Given the description of an element on the screen output the (x, y) to click on. 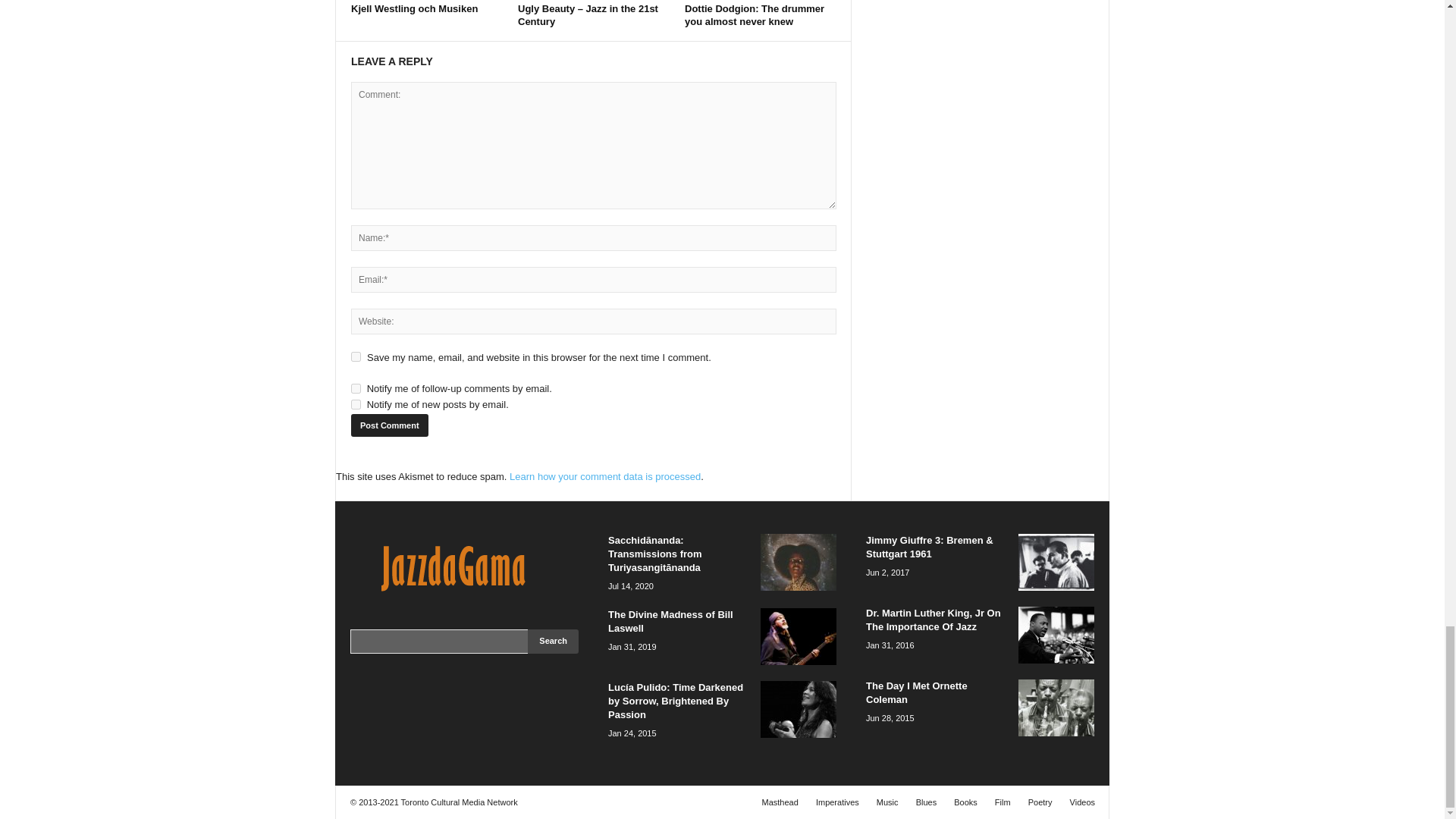
Post Comment (389, 425)
Search (552, 641)
subscribe (355, 388)
subscribe (355, 404)
yes (355, 356)
